Given the description of an element on the screen output the (x, y) to click on. 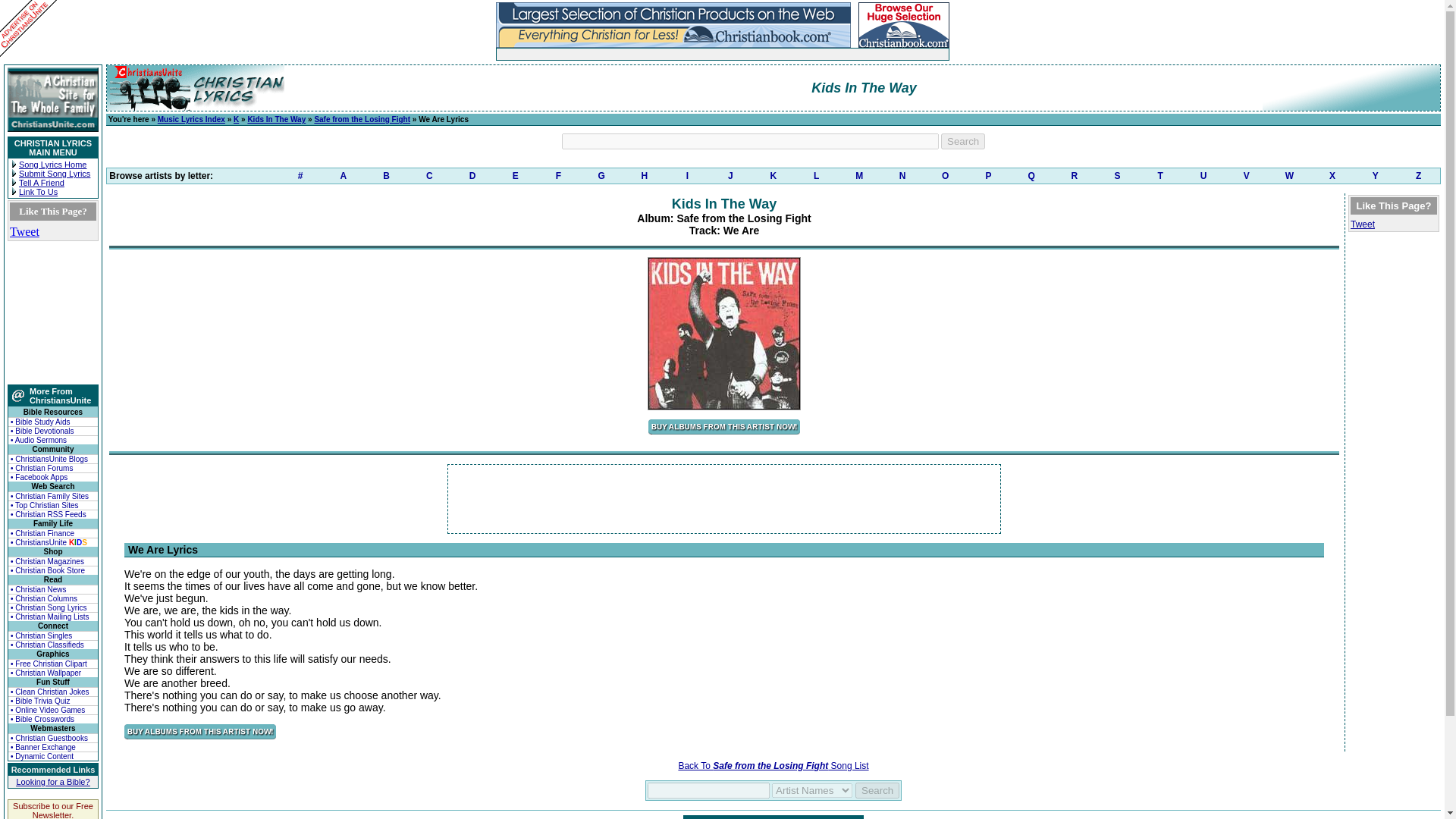
Kids In The Way (276, 119)
Song Lyrics Home (51, 163)
Looking for a Bible? (52, 781)
Submit Song Lyrics (54, 173)
Search (962, 141)
Advertisement (673, 53)
Advertisement (724, 499)
Music Lyrics Index (191, 119)
Link To Us (38, 191)
Search (877, 790)
Tell A Friend (41, 182)
Safe from the Losing Fight (362, 119)
